Given the description of an element on the screen output the (x, y) to click on. 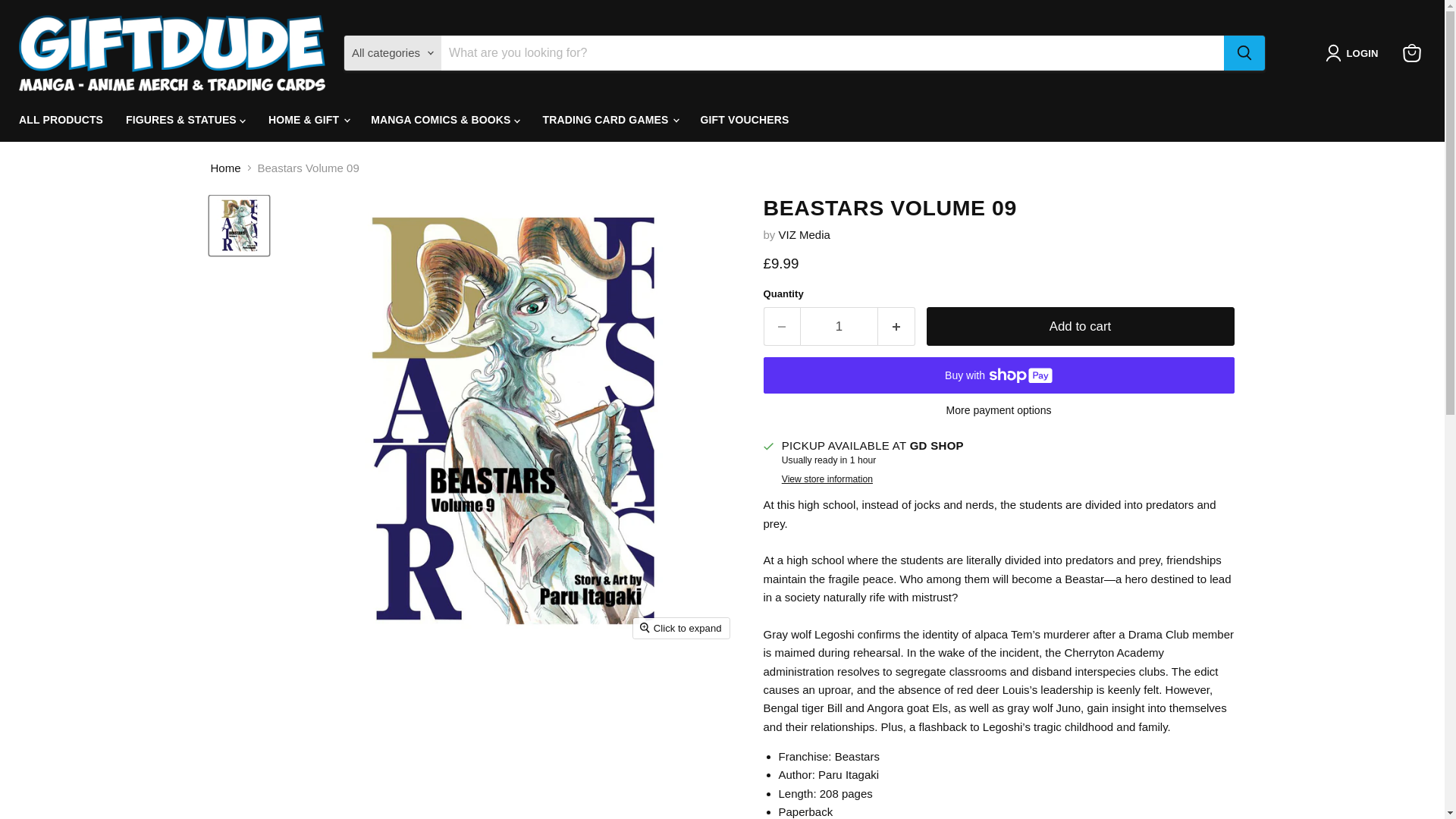
1 (838, 326)
View cart (1411, 52)
ALL PRODUCTS (61, 119)
LOGIN (1354, 53)
VIZ Media (803, 234)
